Given the description of an element on the screen output the (x, y) to click on. 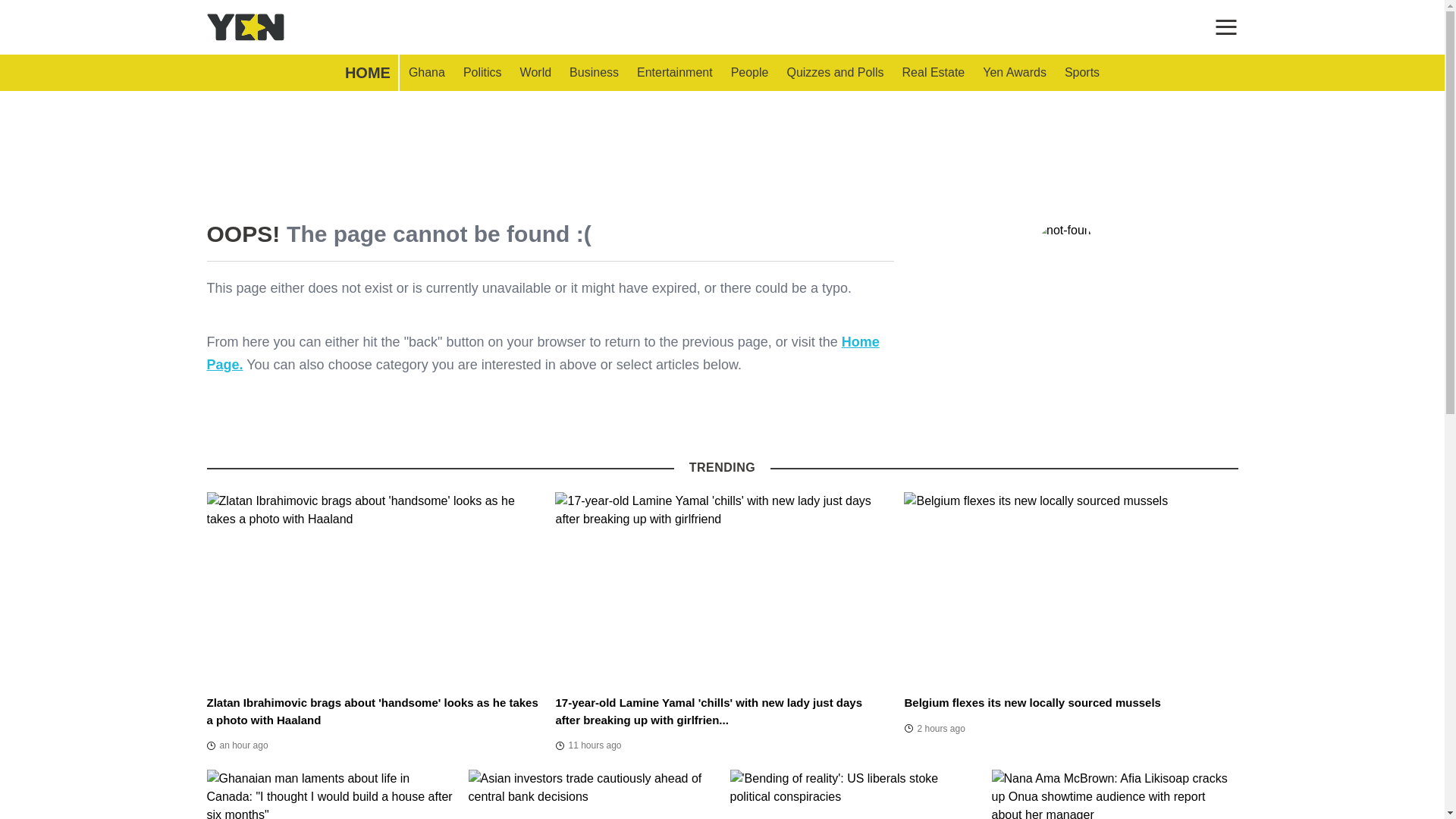
2024-07-30T06:56:40Z (236, 745)
Real Estate (933, 72)
Business (593, 72)
World (535, 72)
Entertainment (674, 72)
People (749, 72)
Yen Awards (1014, 72)
Ghana (426, 72)
HOME (367, 72)
Quizzes and Polls (834, 72)
Politics (482, 72)
2024-07-29T20:17:28Z (587, 745)
2024-07-30T05:10:11Z (933, 728)
Sports (1081, 72)
